Given the description of an element on the screen output the (x, y) to click on. 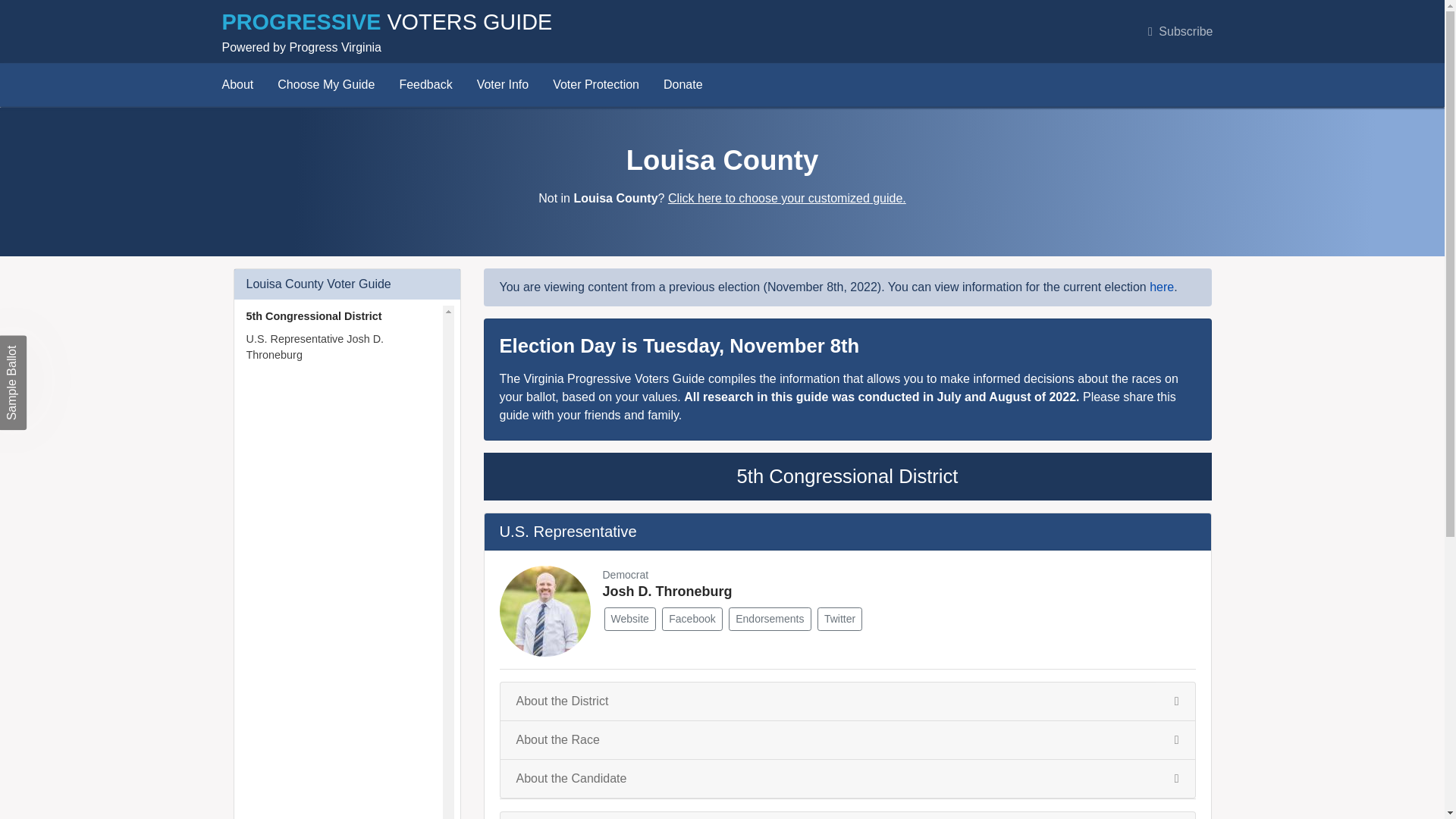
Voter Info (503, 85)
Click here to choose your customized guide. (786, 197)
Feedback (424, 85)
U.S. Representative (567, 531)
Twitter (838, 618)
PROGRESSIVE VOTERS GUIDE (386, 24)
Endorsements (769, 618)
  Subscribe (1180, 31)
Voter Protection (596, 85)
Louisa County (722, 160)
U.S. Representative Josh D. Throneburg (339, 347)
Josh D. Throneburg (667, 590)
About the Candidate (847, 778)
5th Congressional District (847, 476)
